Given the description of an element on the screen output the (x, y) to click on. 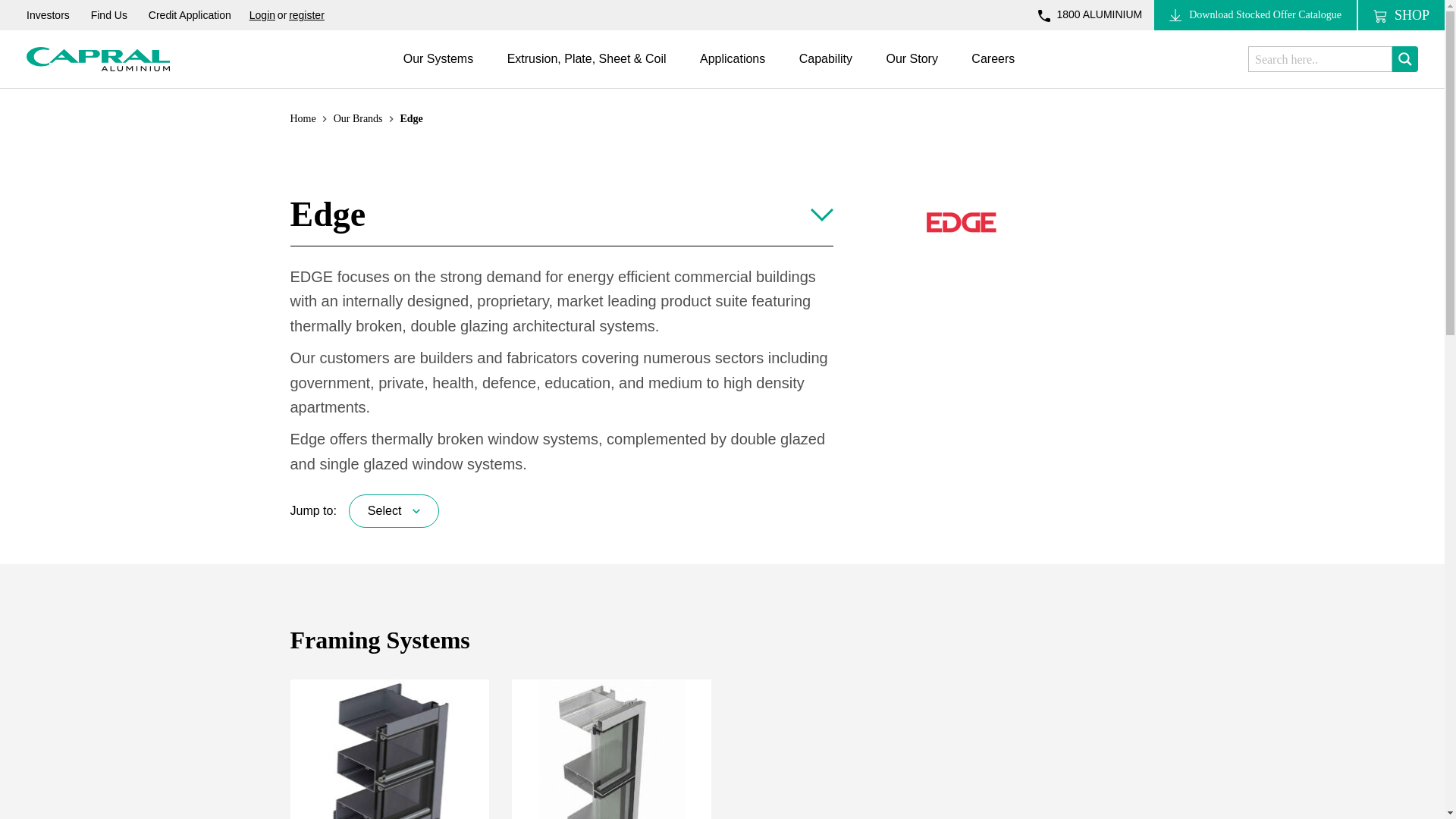
Applications (732, 69)
register (306, 15)
Careers (992, 69)
Our Story (911, 69)
Download Stocked Offer Catalogue (1255, 15)
Our Systems (438, 69)
Login (261, 15)
Credit Application (189, 15)
1800 ALUMINIUM (1088, 14)
Capability (825, 69)
Investors (47, 15)
Find Us (109, 15)
